Given the description of an element on the screen output the (x, y) to click on. 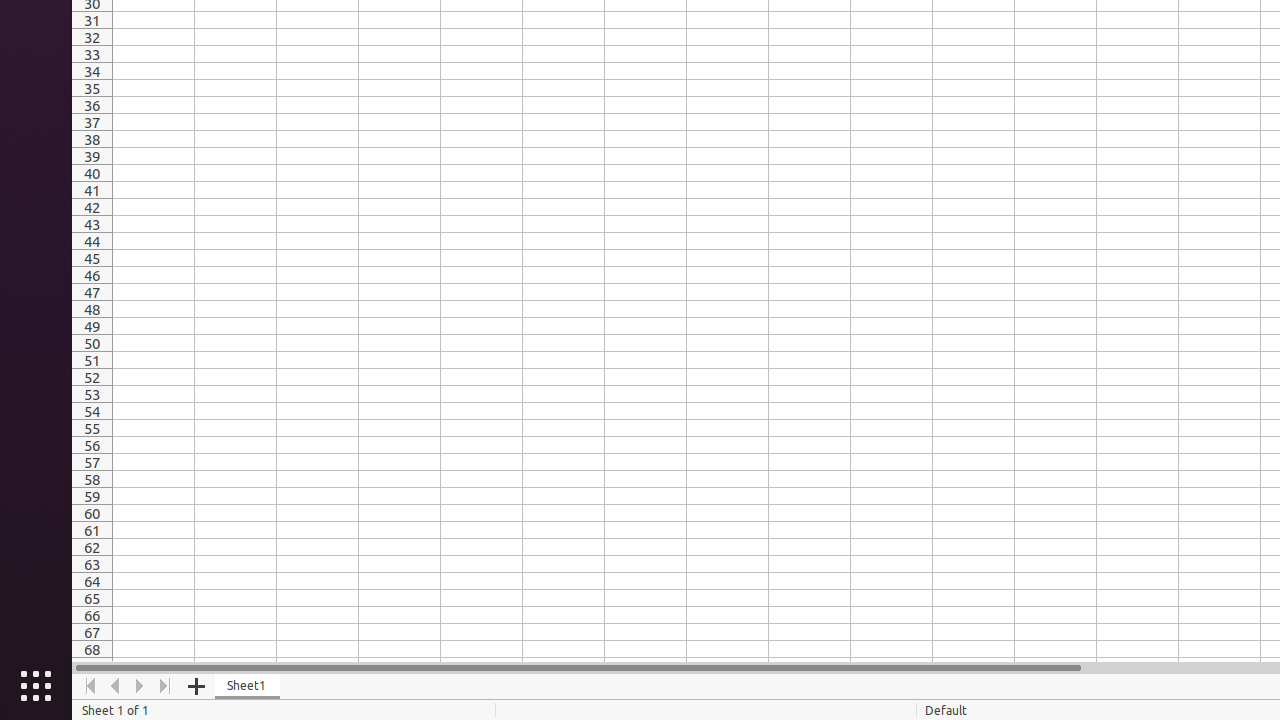
Move Left Element type: push-button (115, 686)
